Given the description of an element on the screen output the (x, y) to click on. 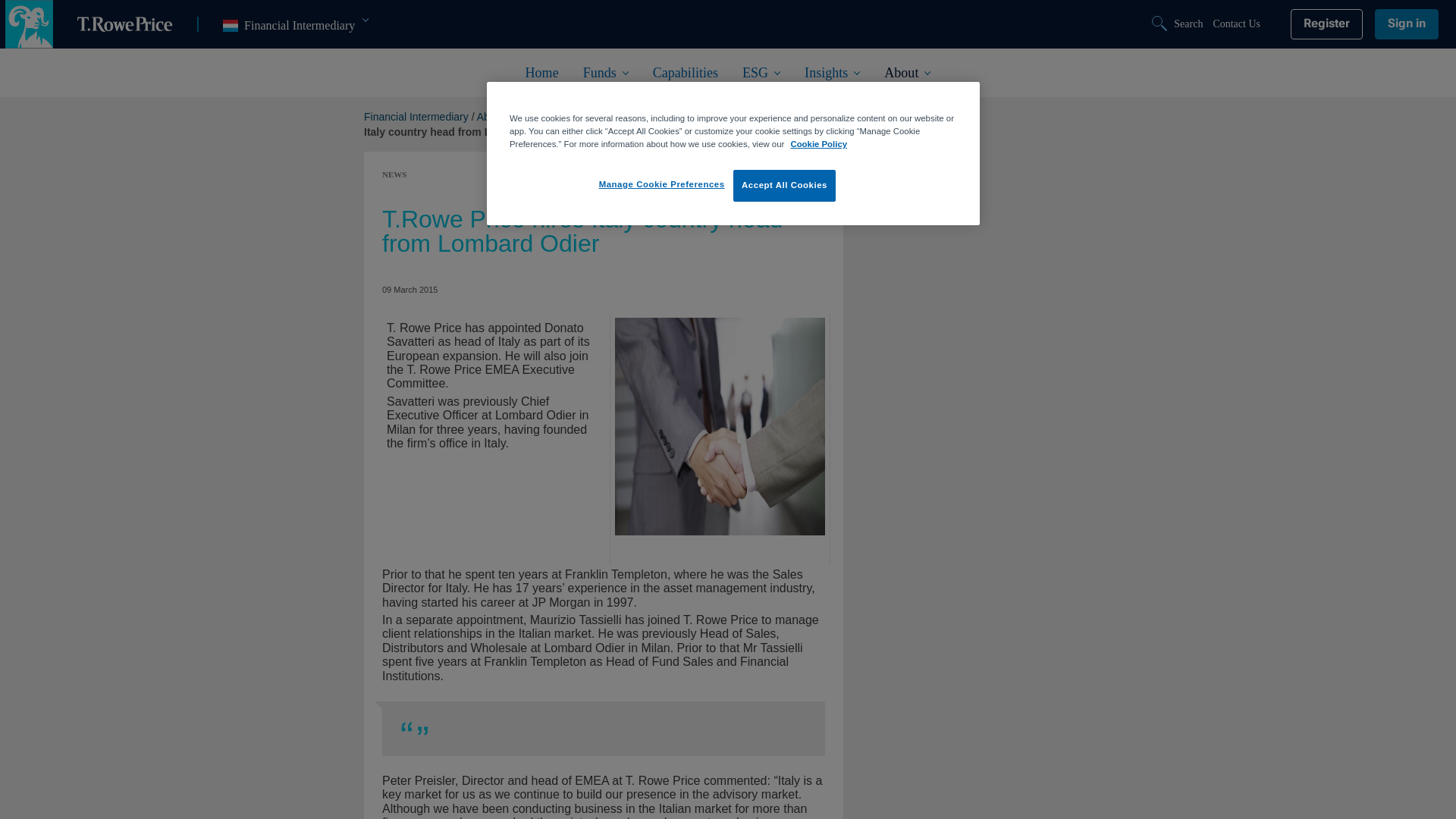
Register (1326, 24)
Contact Us (1236, 24)
Search (1179, 24)
Sign in (295, 25)
